Given the description of an element on the screen output the (x, y) to click on. 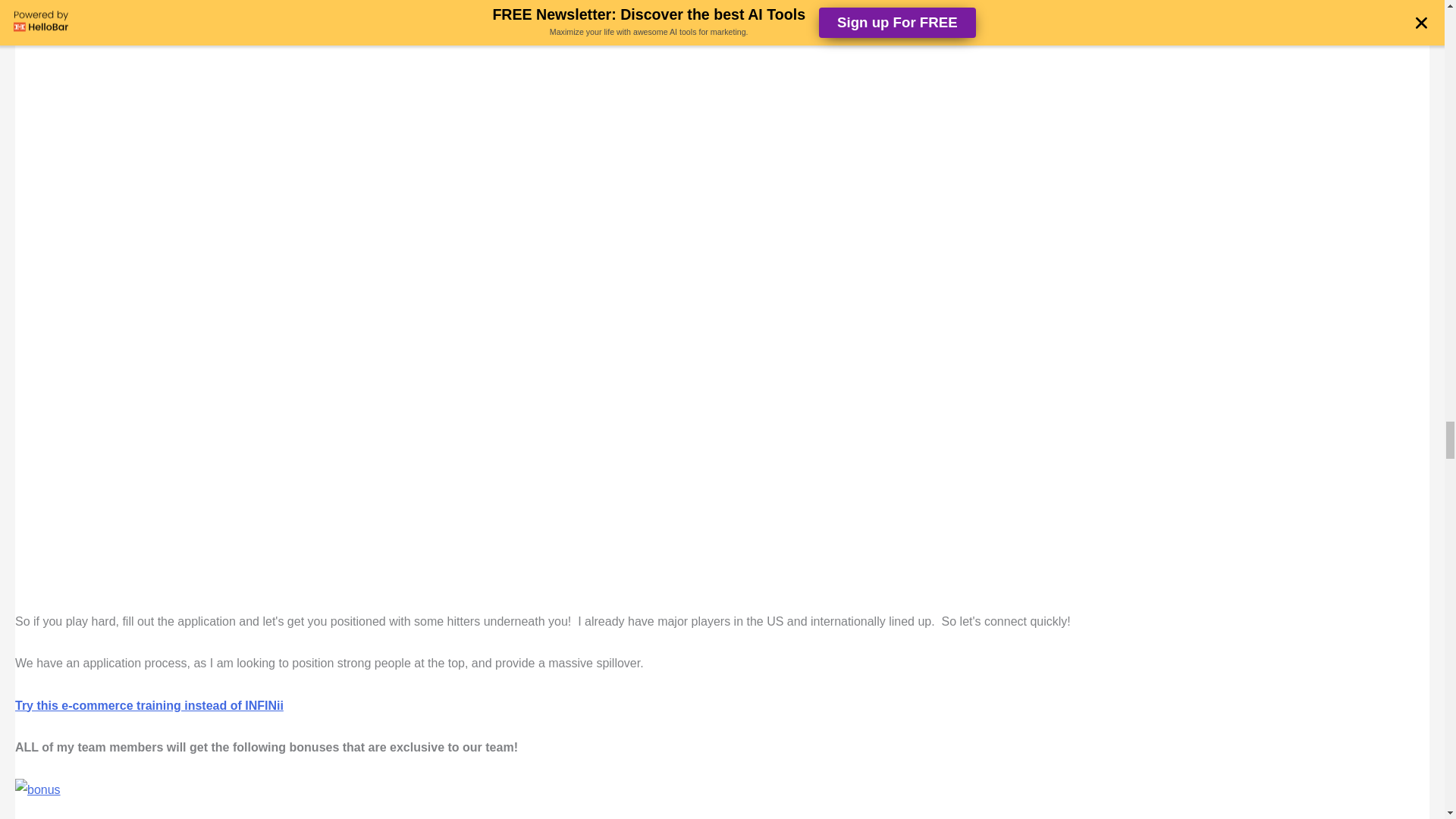
Try this e-commerce training instead of INFINii (148, 705)
